Given the description of an element on the screen output the (x, y) to click on. 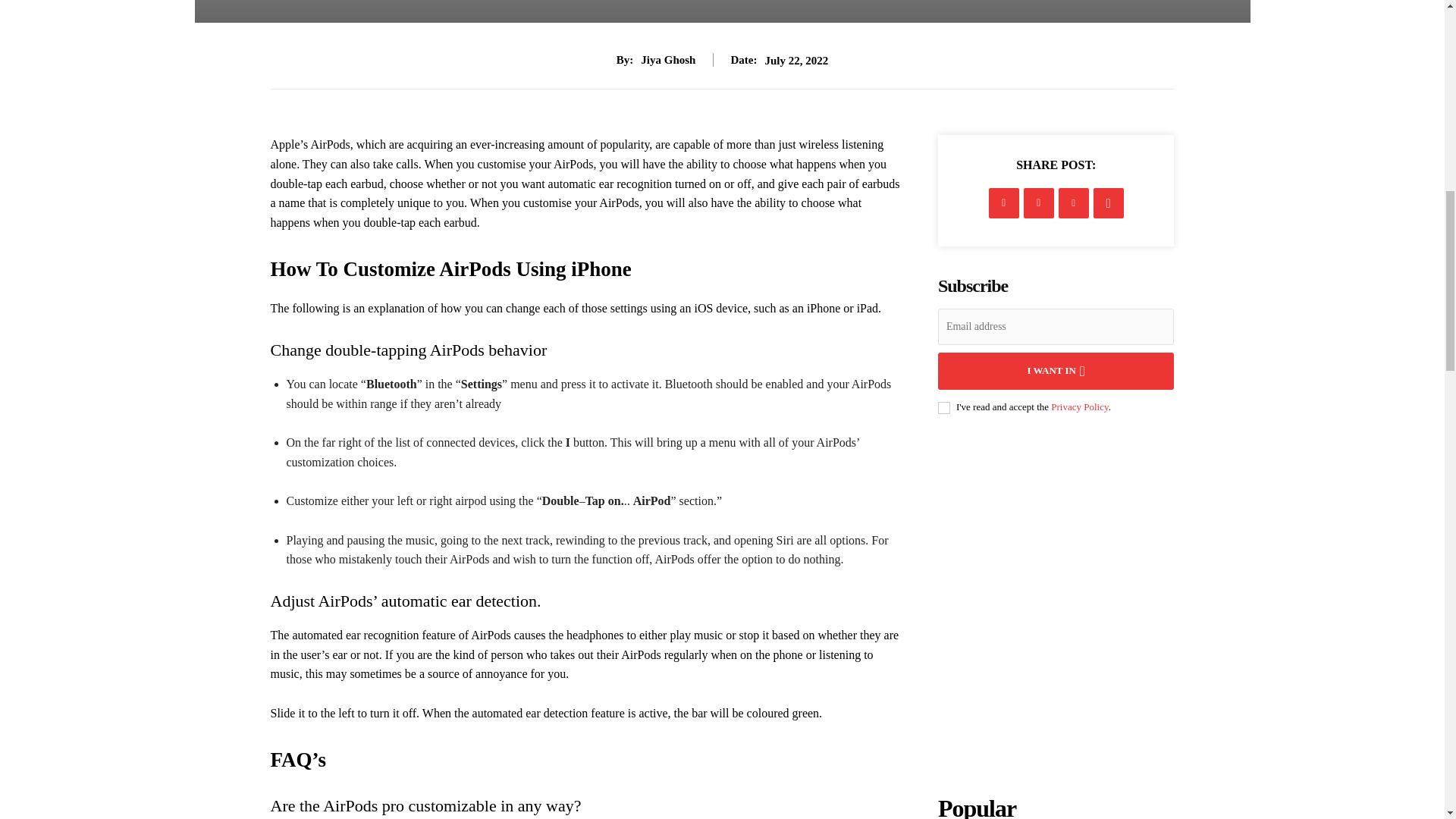
WhatsApp (1108, 203)
Twitter (1038, 203)
Facebook (1003, 203)
Pinterest (1073, 203)
Jiya Ghosh (667, 59)
